Given the description of an element on the screen output the (x, y) to click on. 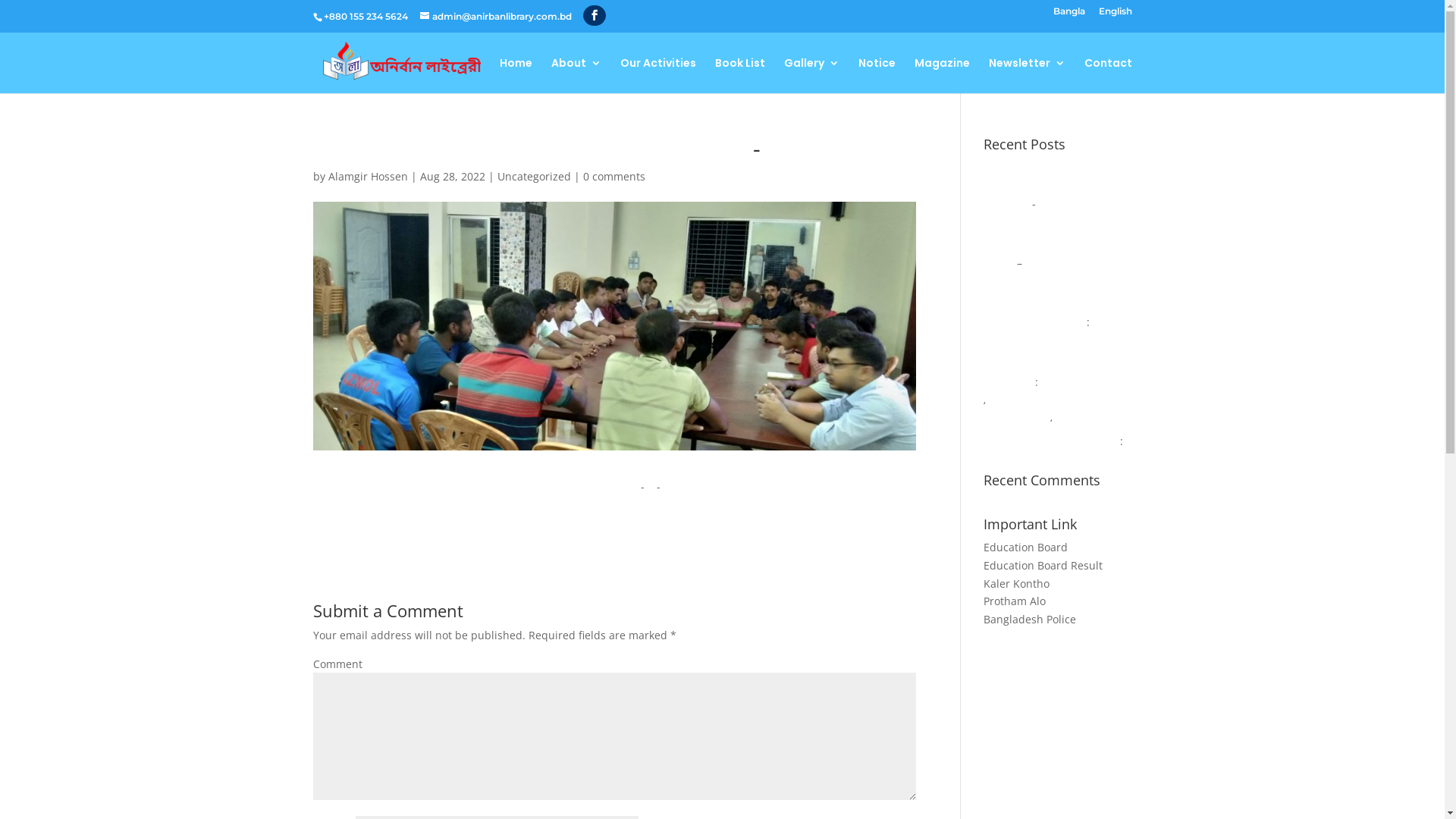
Education Board Result Element type: text (1042, 565)
Our Activities Element type: text (658, 75)
0 comments Element type: text (613, 176)
Bangladesh Police Element type: text (1029, 618)
Newsletter Element type: text (1026, 75)
Book List Element type: text (739, 75)
Kaler Kontho Element type: text (1016, 583)
Contact Element type: text (1108, 75)
About Element type: text (575, 75)
Bangla Element type: text (1068, 14)
Alamgir Hossen Element type: text (367, 176)
Education Board Element type: text (1025, 546)
Notice Element type: text (876, 75)
admin@anirbanlibrary.com.bd Element type: text (495, 15)
Uncategorized Element type: text (534, 176)
English Element type: text (1114, 14)
Home Element type: text (514, 75)
Magazine Element type: text (941, 75)
Gallery Element type: text (811, 75)
Protham Alo Element type: text (1014, 600)
